Given the description of an element on the screen output the (x, y) to click on. 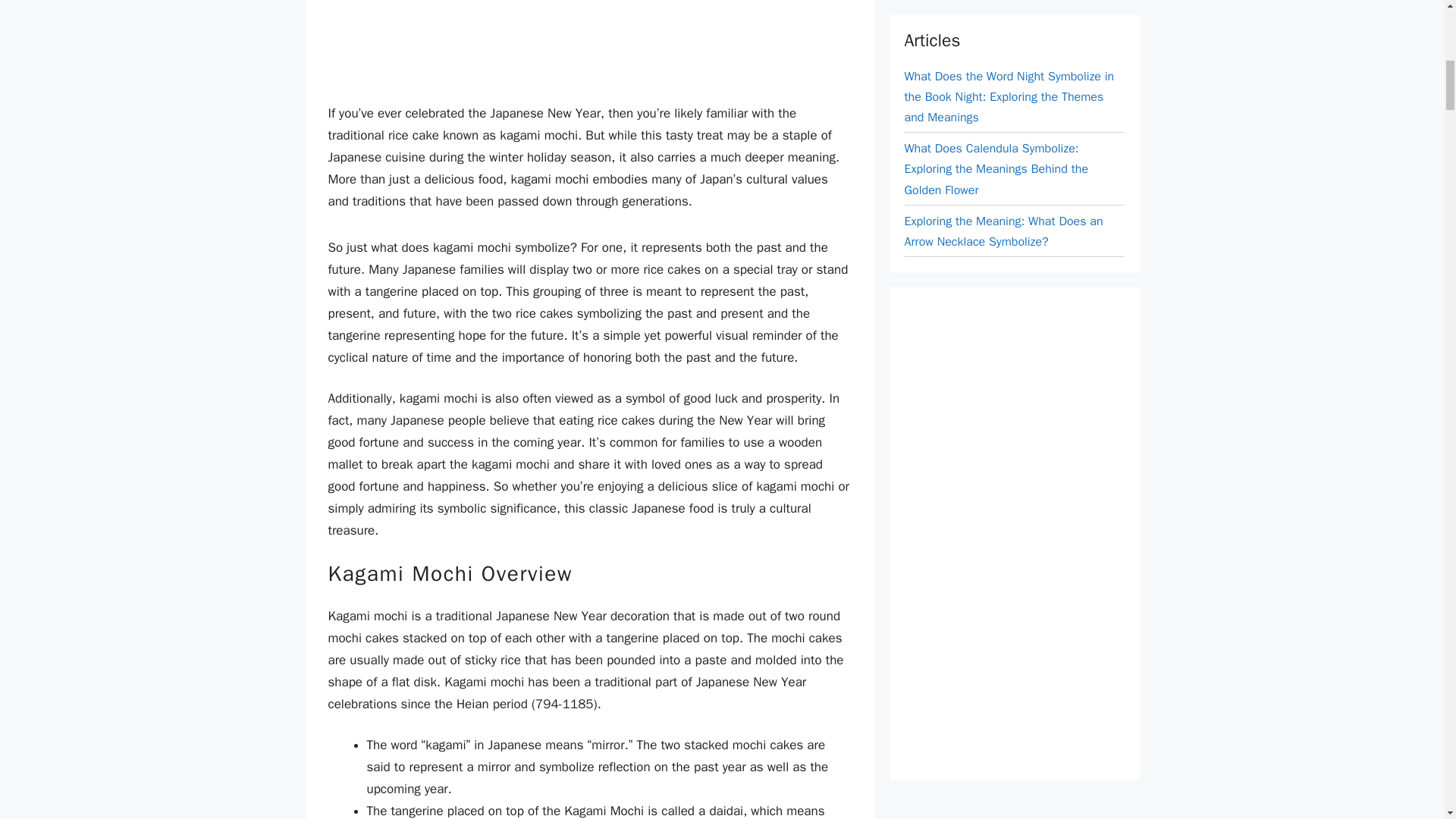
Advertisement (589, 44)
Advertisement (1017, 7)
